Given the description of an element on the screen output the (x, y) to click on. 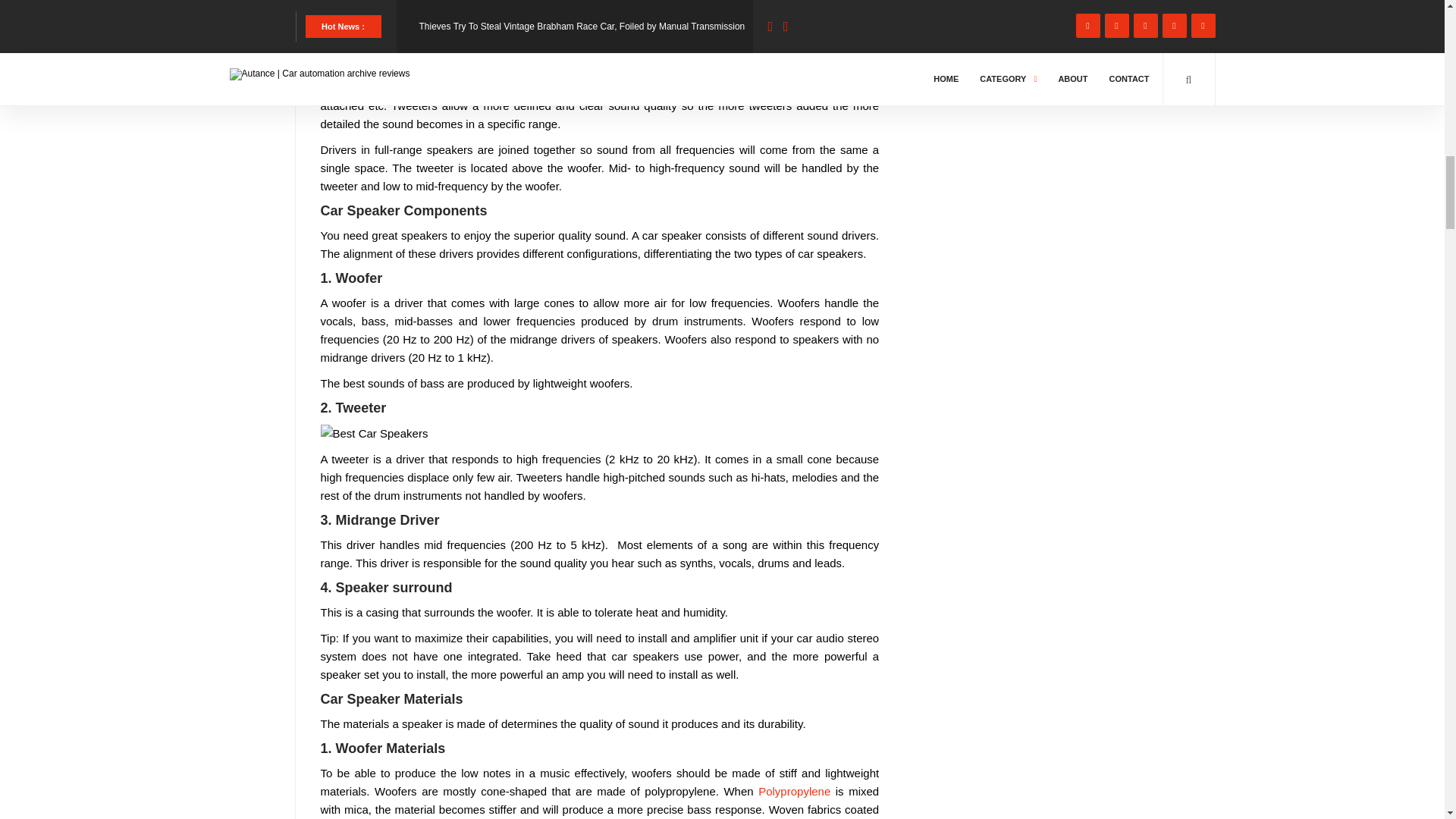
Tweeter (374, 434)
Polypropylene (793, 790)
